Given the description of an element on the screen output the (x, y) to click on. 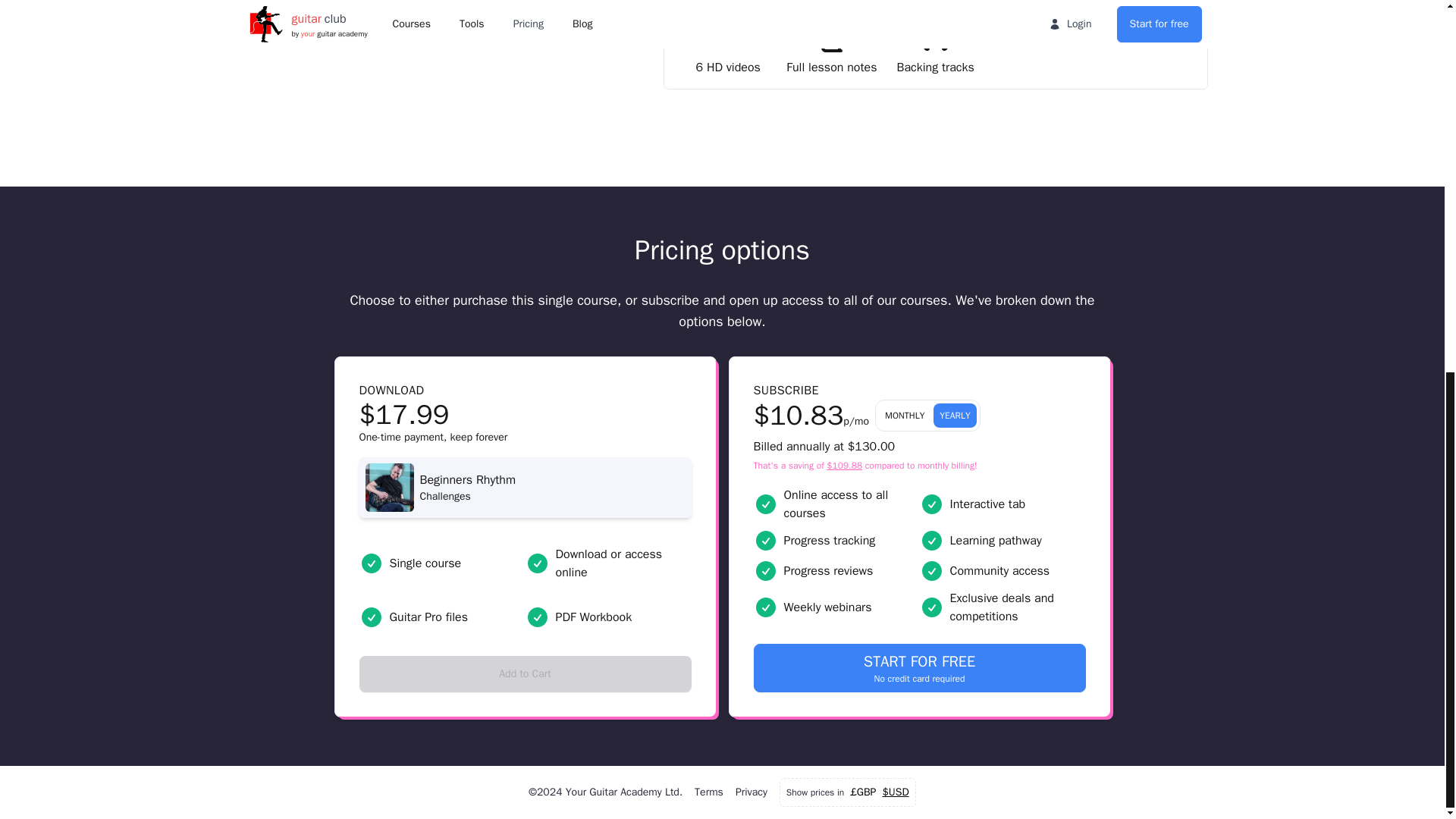
Privacy (751, 792)
Add to Cart (920, 667)
Terms (525, 674)
